Given the description of an element on the screen output the (x, y) to click on. 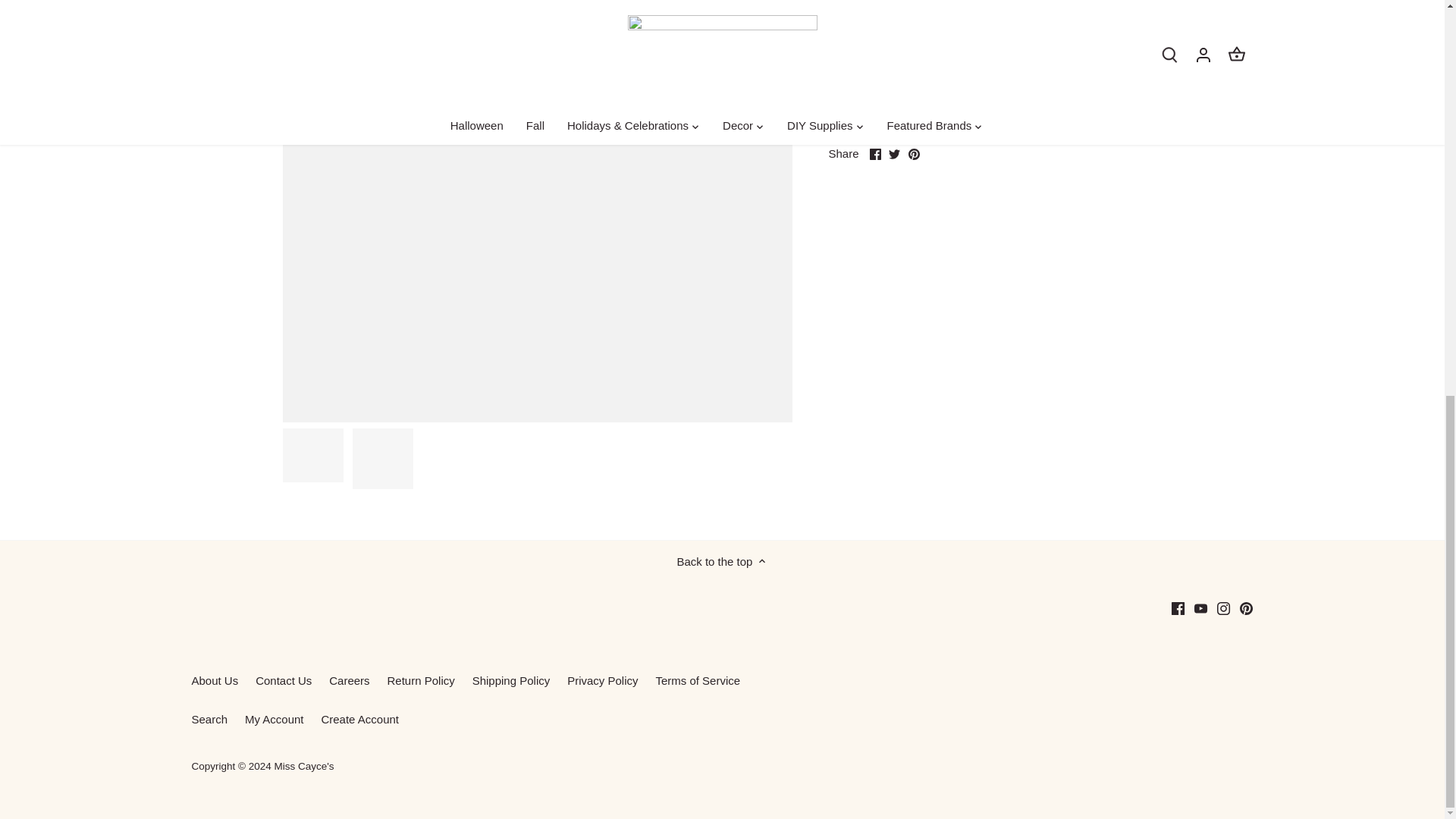
Pinterest (914, 153)
Youtube (1200, 608)
Facebook (874, 153)
Facebook (1178, 608)
Instagram (1223, 608)
Twitter (893, 153)
